Given the description of an element on the screen output the (x, y) to click on. 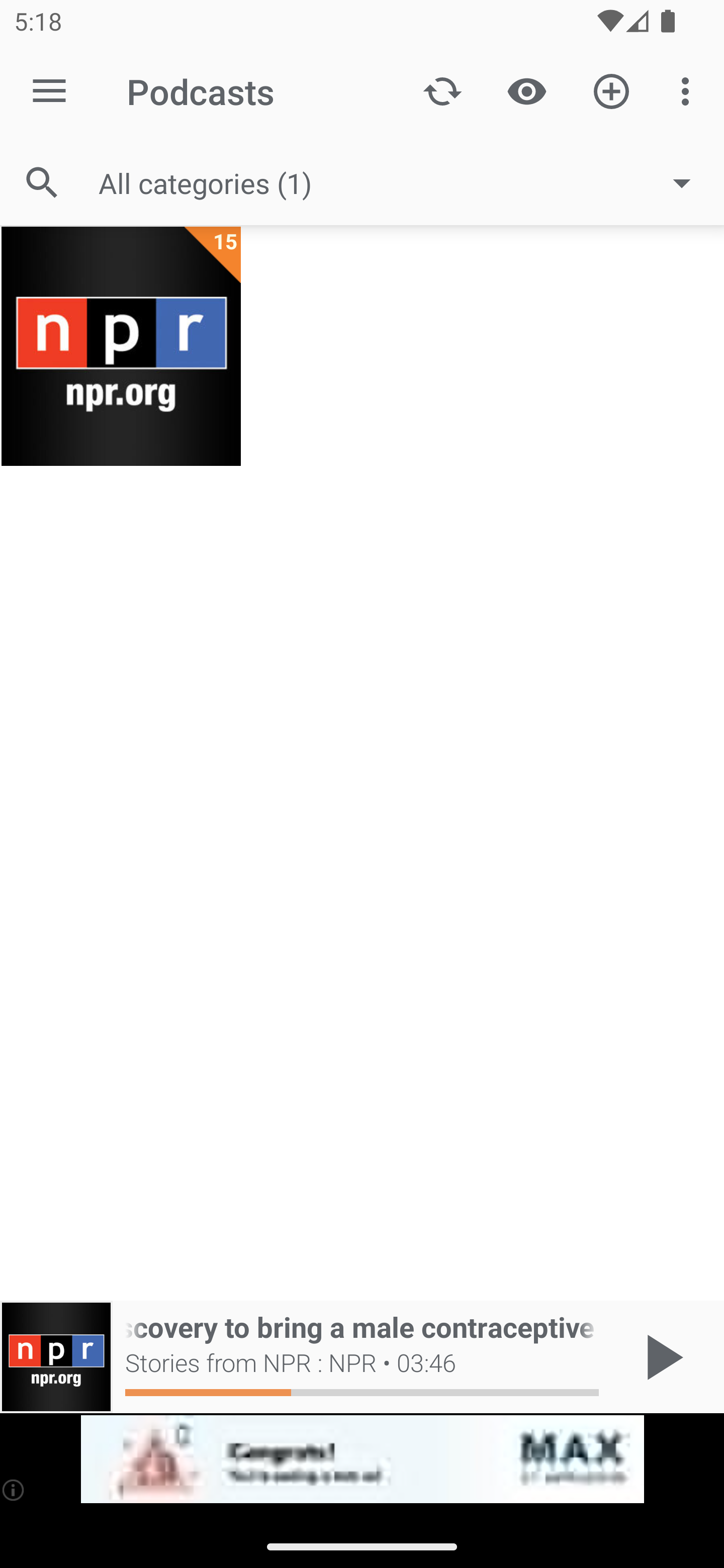
Open navigation sidebar (49, 91)
Update (442, 90)
Show / Hide played content (526, 90)
Add new Podcast (611, 90)
More options (688, 90)
Search (42, 183)
All categories (1) (404, 182)
Stories from NPR : NPR 15 (121, 346)
Play / Pause (660, 1356)
app-monetization (362, 1459)
(i) (14, 1489)
